Given the description of an element on the screen output the (x, y) to click on. 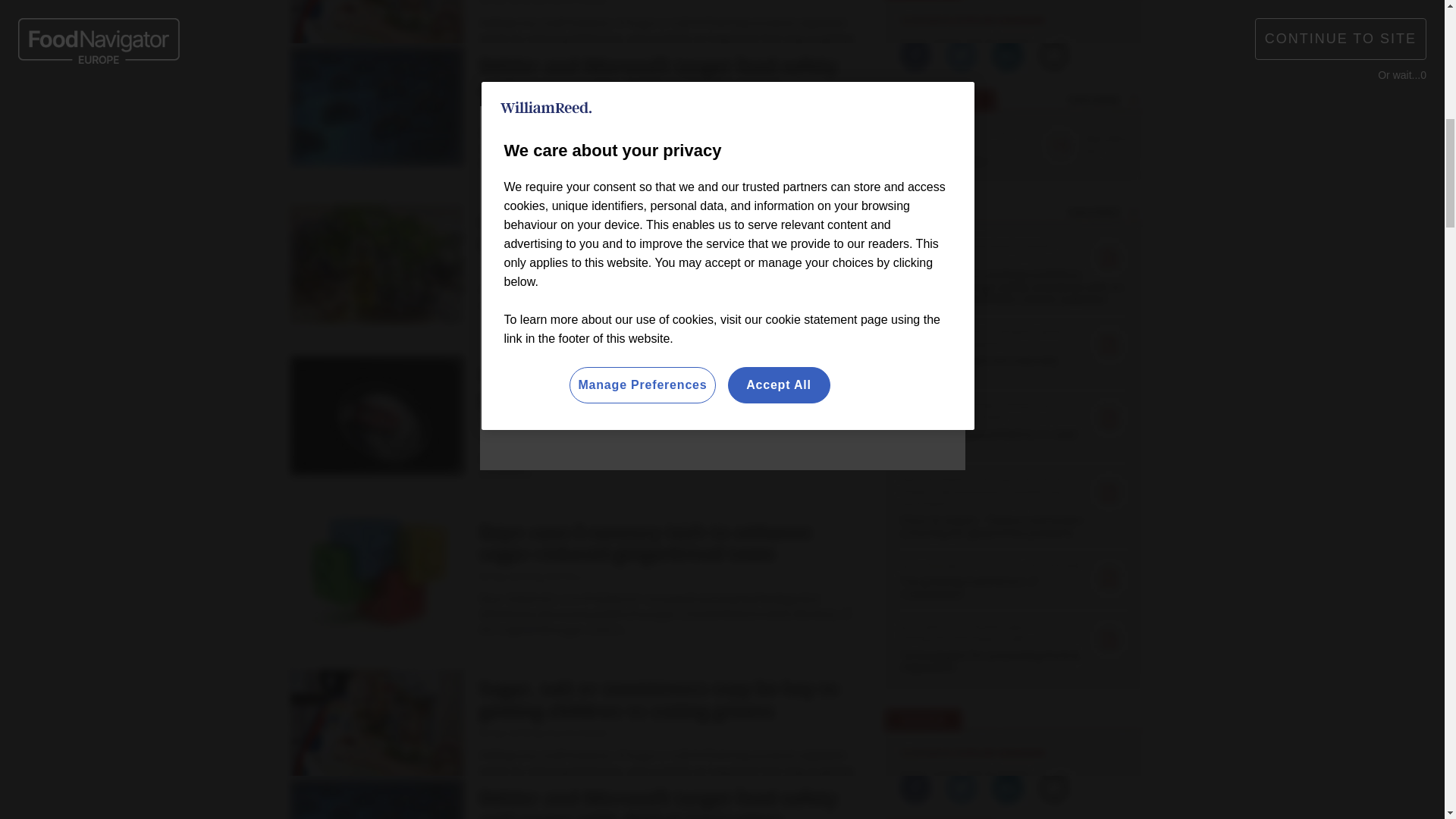
Weight-loss drugs beyond weight-loss: The potential of GLP-1 (402, 809)
Is a high-protein diet damaging to brain health? (402, 691)
Is Gen Z the most powerful consumer group? (402, 778)
